Given the description of an element on the screen output the (x, y) to click on. 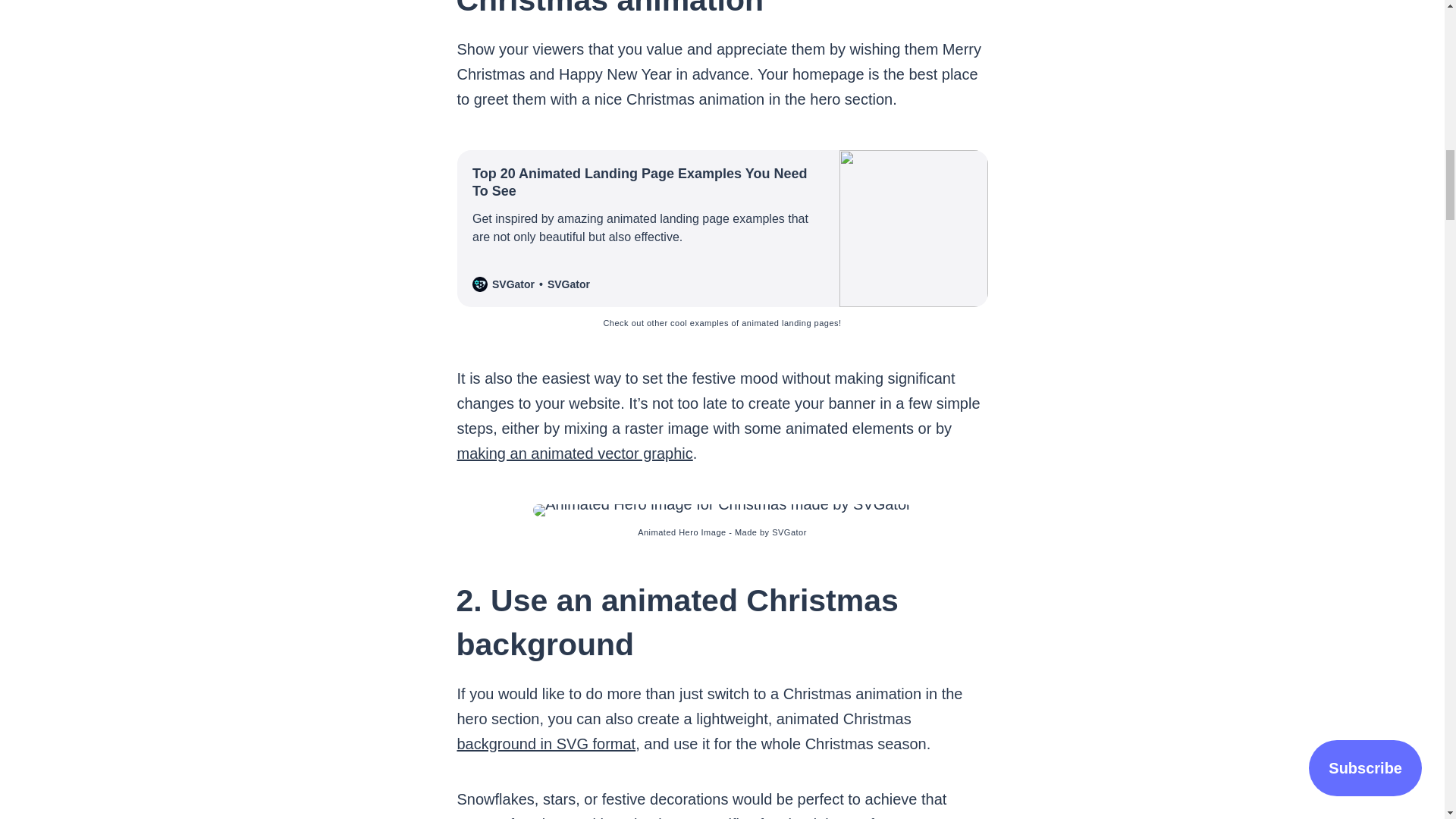
background in SVG format (545, 743)
making an animated vector graphic (575, 453)
